Given the description of an element on the screen output the (x, y) to click on. 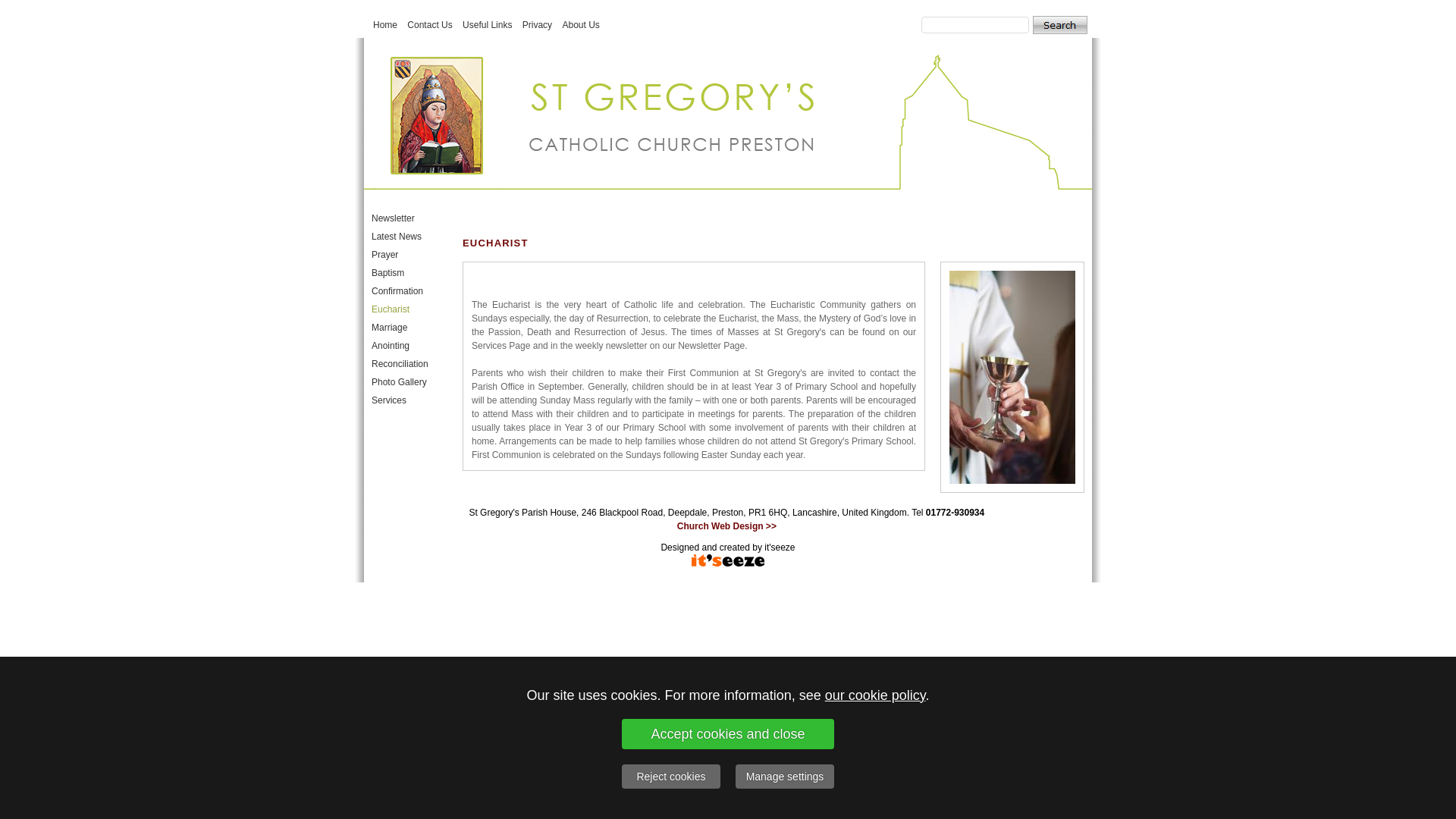
Newsletter (392, 217)
Anointing (390, 345)
Useful Links (487, 24)
Manage settings (784, 776)
Latest News (396, 235)
Baptism (387, 272)
it'seeze (779, 547)
Contact Us (429, 24)
About Us (580, 24)
Privacy (536, 24)
our cookie policy (875, 694)
Home (384, 24)
Photo Gallery (398, 381)
Marriage (389, 327)
Services (388, 399)
